Given the description of an element on the screen output the (x, y) to click on. 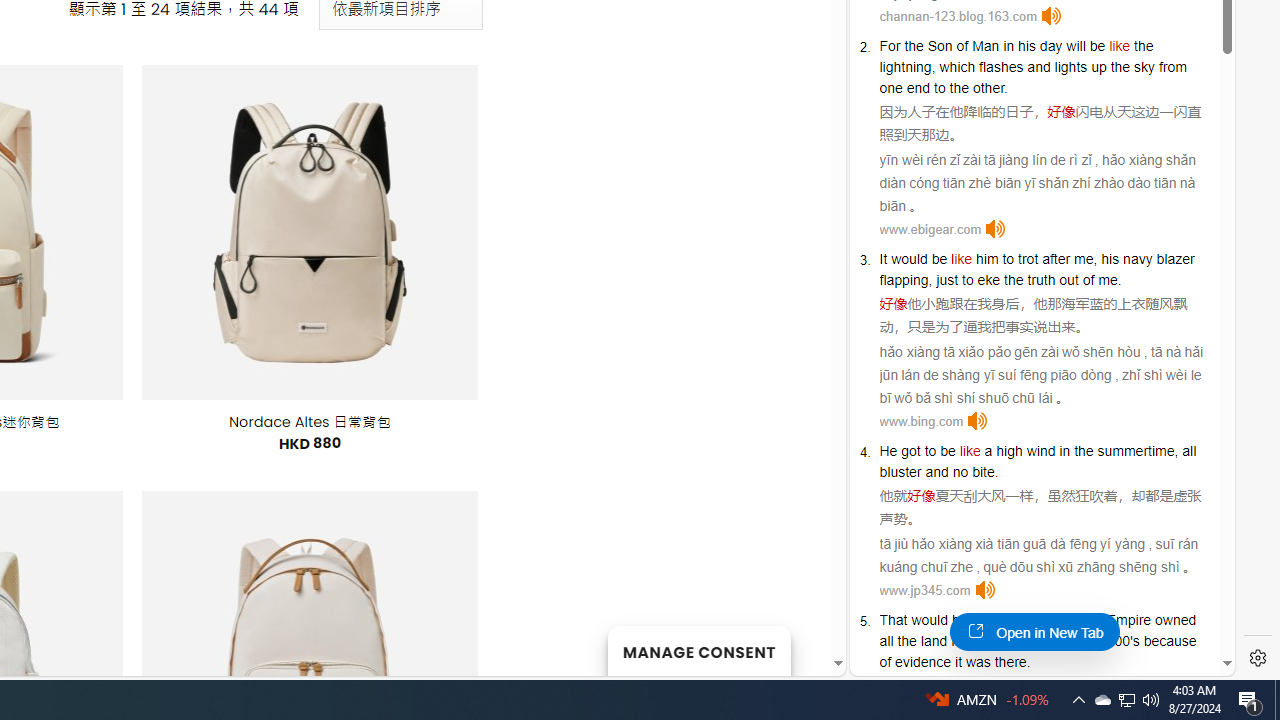
be (947, 450)
day (1050, 46)
blazer (1175, 259)
www.ebigear.com (930, 228)
from (1172, 66)
Empire (1128, 619)
